Given the description of an element on the screen output the (x, y) to click on. 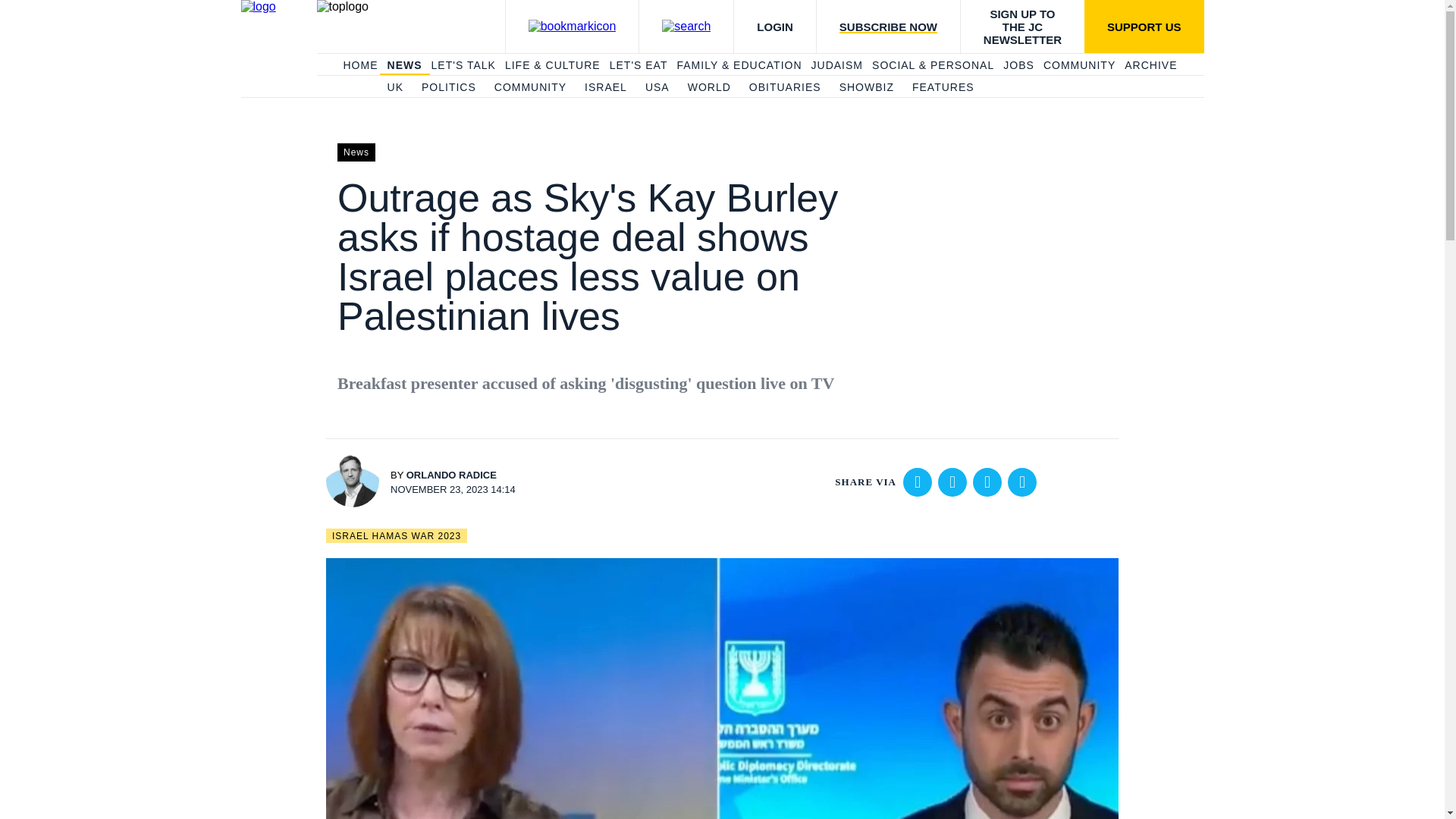
NEWS (404, 65)
SUPPORT US (1144, 26)
FEATURES (943, 87)
LOGIN (774, 26)
LET'S EAT (639, 65)
ARCHIVE (1150, 65)
ISRAEL (606, 87)
SIGN UP TO THE JC NEWSLETTER (1021, 26)
JUDAISM (836, 65)
COMMUNITY (530, 87)
